Given the description of an element on the screen output the (x, y) to click on. 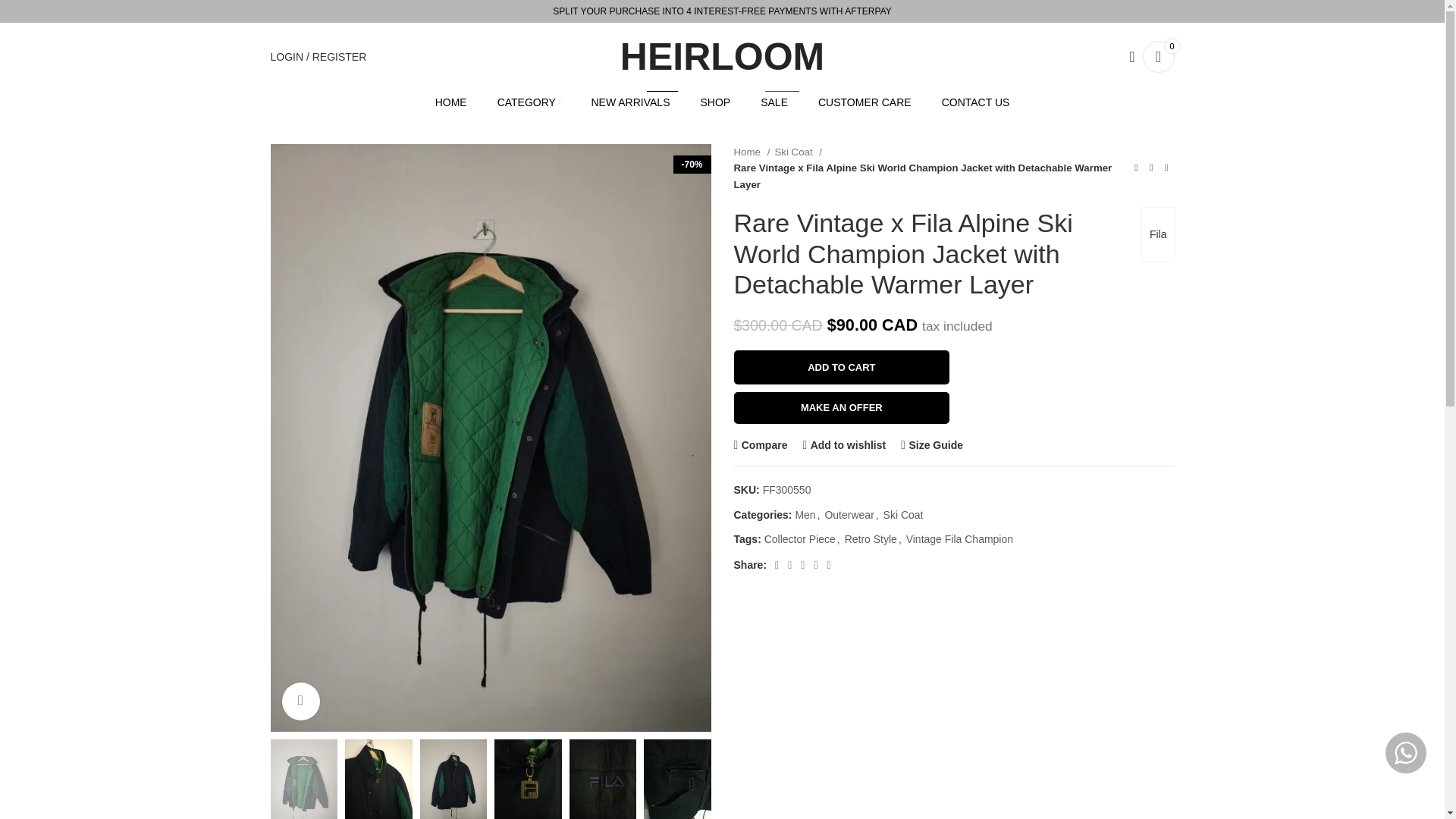
SHOP (715, 101)
CATEGORY (528, 101)
Shopping cart (630, 101)
Log in (1157, 56)
0 (395, 297)
My account (1157, 56)
HOME (318, 56)
